Given the description of an element on the screen output the (x, y) to click on. 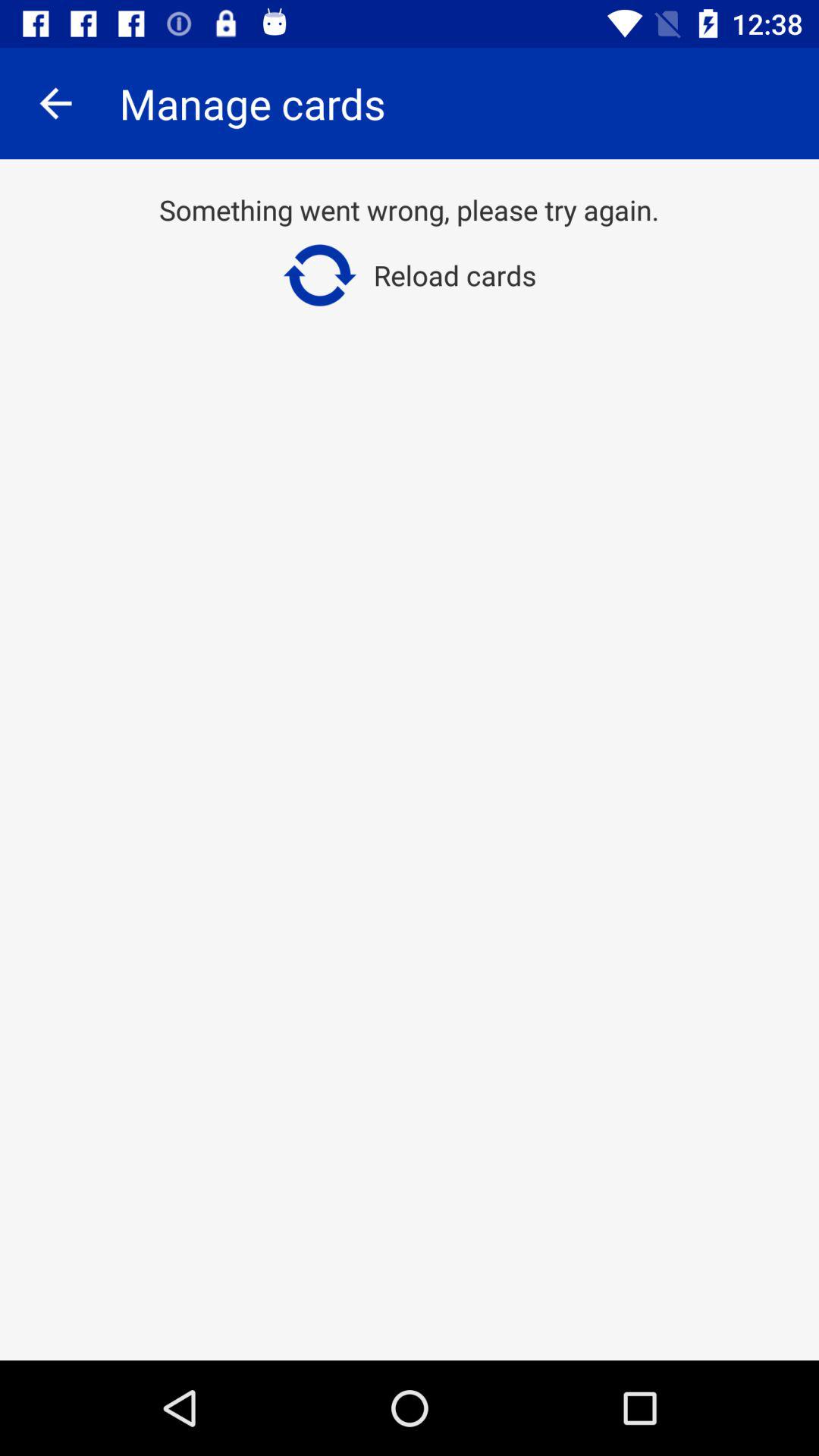
select the item to the left of manage cards icon (55, 103)
